Given the description of an element on the screen output the (x, y) to click on. 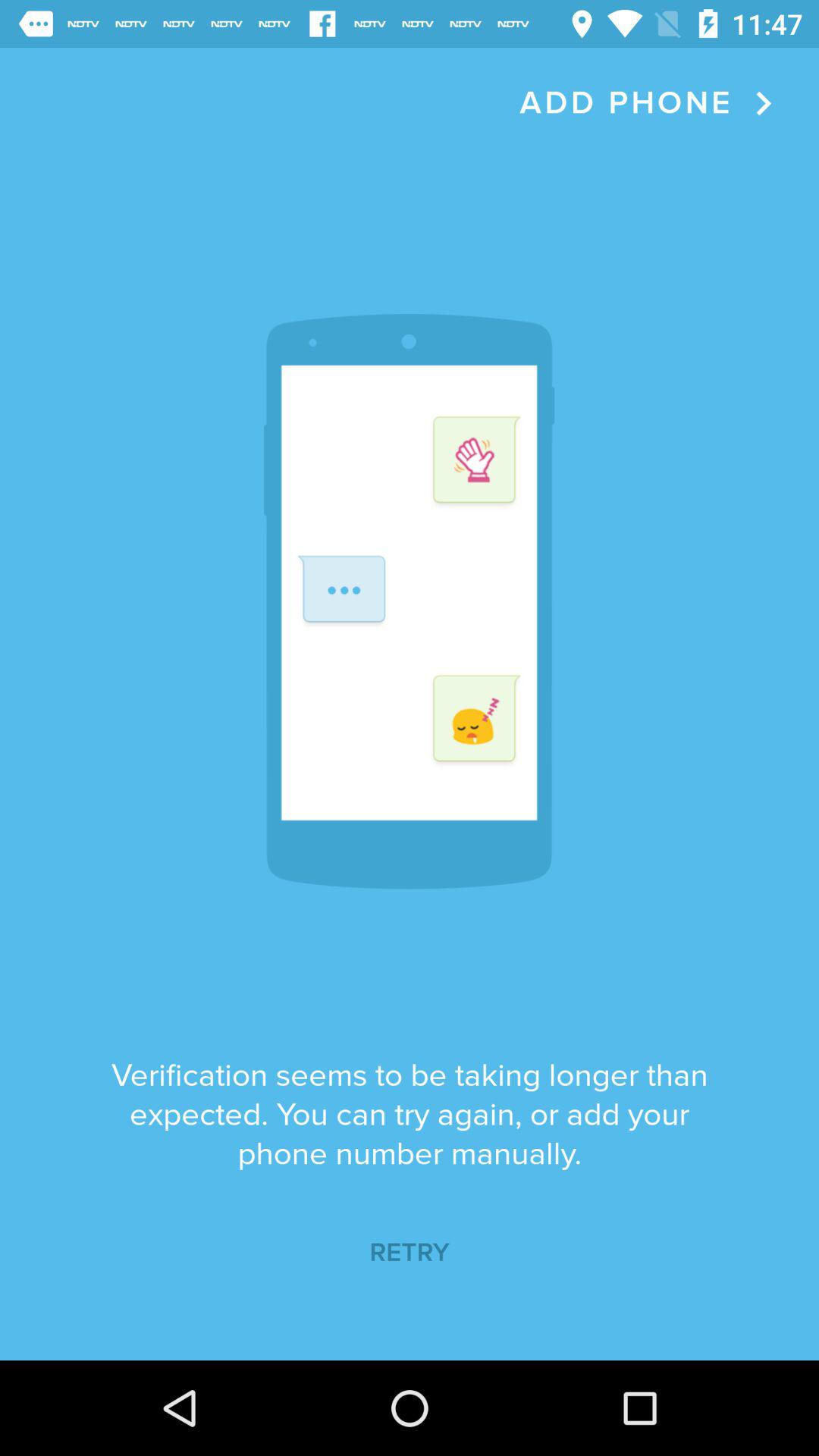
flip to retry icon (409, 1252)
